Given the description of an element on the screen output the (x, y) to click on. 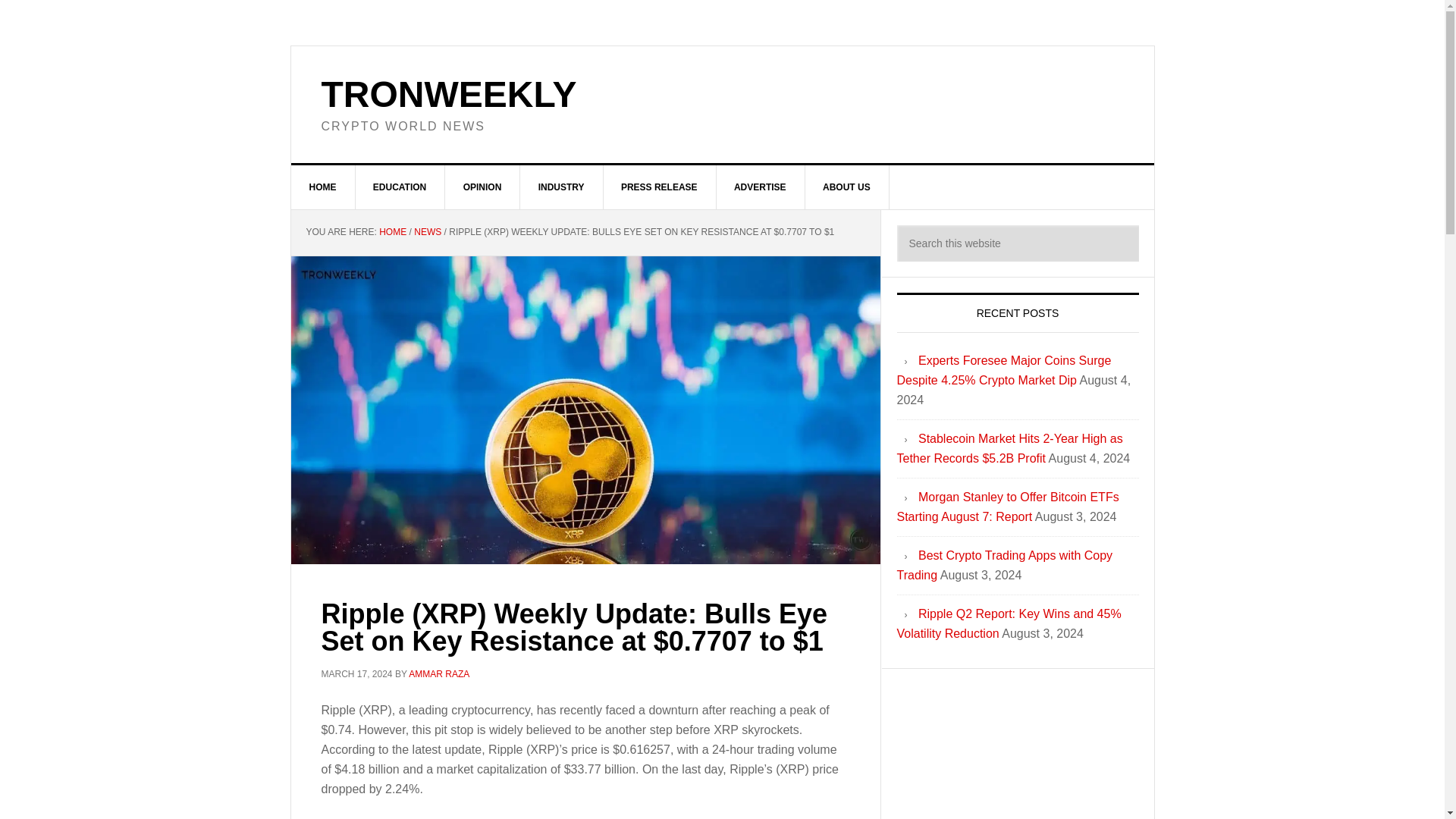
HOME (392, 231)
TRONWEEKLY (448, 94)
ABOUT US (847, 187)
PRESS RELEASE (659, 187)
ADVERTISE (760, 187)
EDUCATION (400, 187)
NEWS (427, 231)
INDUSTRY (561, 187)
AMMAR RAZA (438, 674)
OPINION (483, 187)
HOME (323, 187)
